Given the description of an element on the screen output the (x, y) to click on. 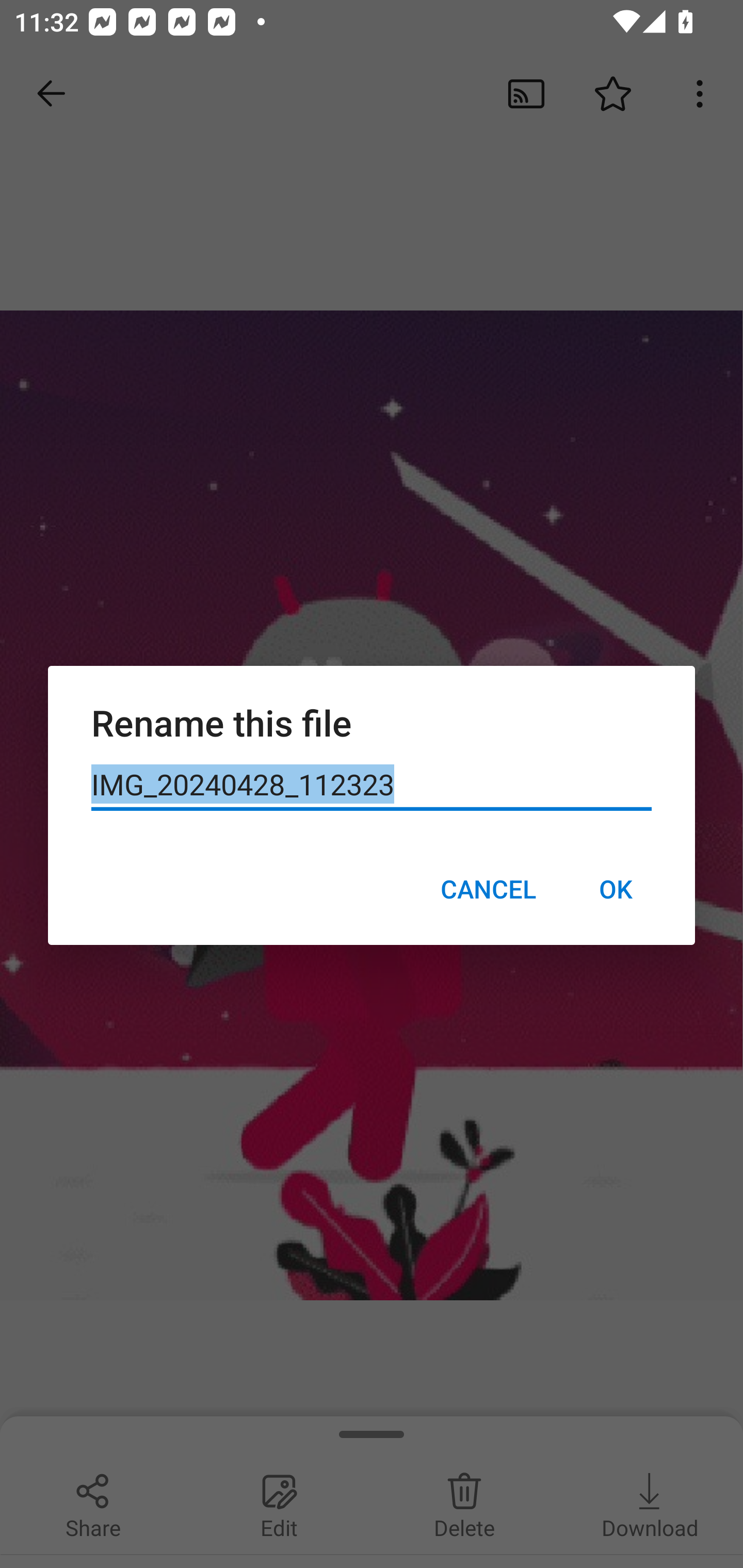
IMG_20240428_112323 (371, 784)
CANCEL (488, 888)
OK (615, 888)
